Given the description of an element on the screen output the (x, y) to click on. 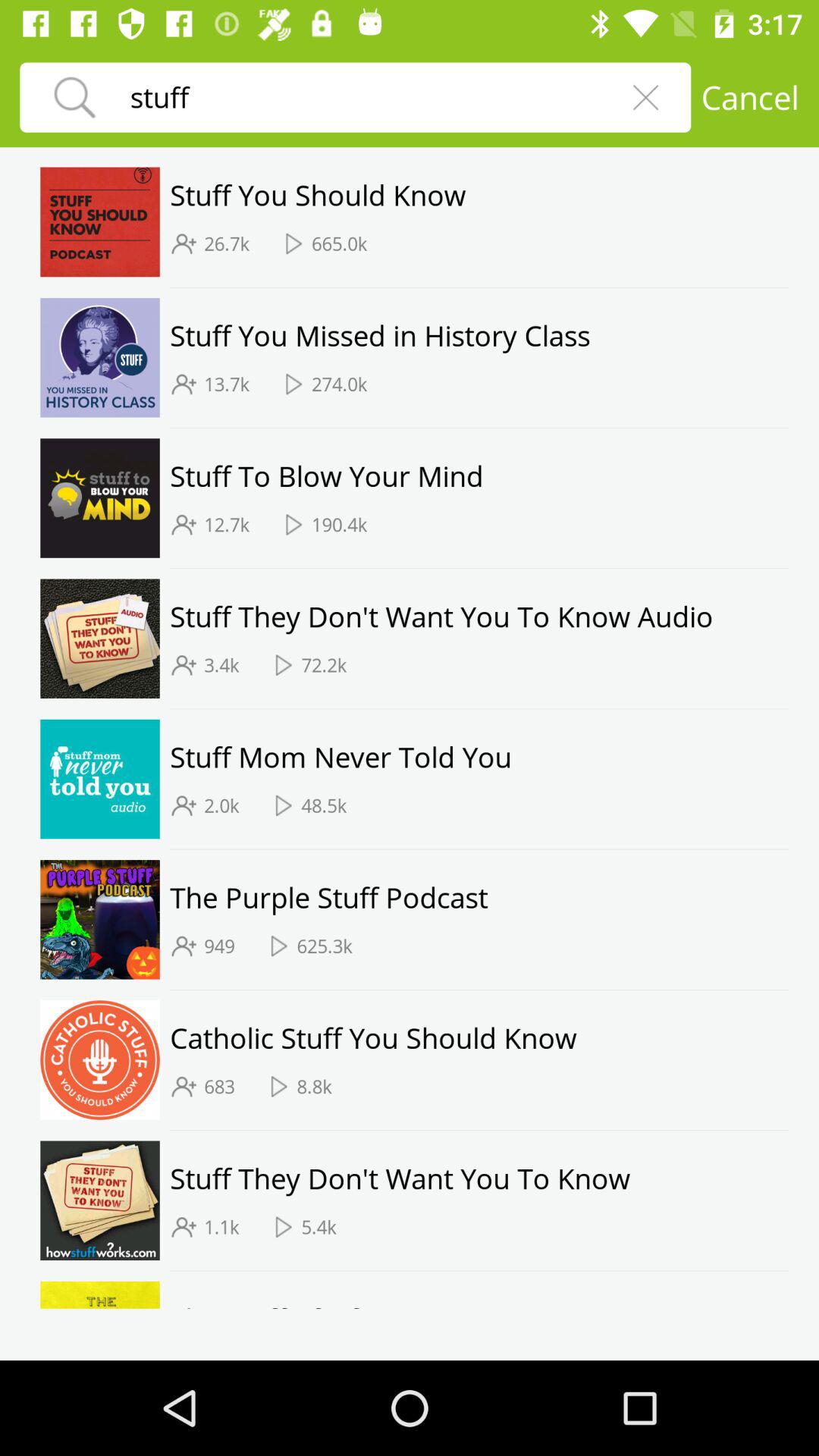
press the 48.5k (323, 805)
